Given the description of an element on the screen output the (x, y) to click on. 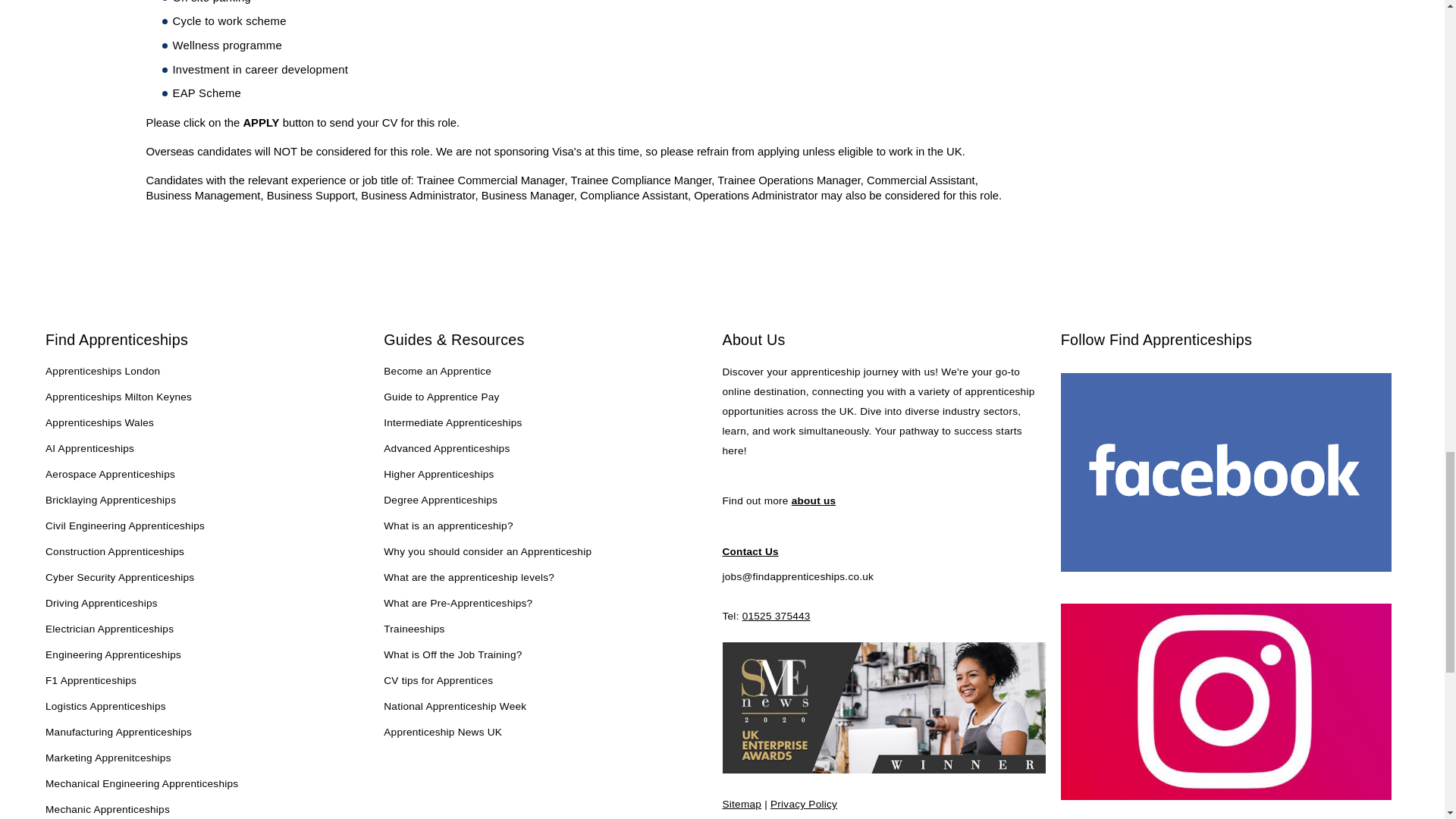
Driving Apprenticeships (101, 604)
Manufacturing Apprenticeships (118, 732)
Electrician Apprenticeships (109, 629)
Cyber Security Apprenticeships (119, 578)
Bricklaying Apprenticeships (110, 501)
Engineering Apprenticeships (112, 655)
AI Apprenticeships (89, 449)
Apprenticeships Milton Keynes (118, 397)
Apprenticeships Wales (99, 424)
Civil Engineering Apprenticeships (125, 526)
Apprenticeships London (102, 372)
F1 Apprenticeships (90, 681)
Logistics Apprenticeships (105, 707)
Aerospace Apprenticeships (109, 475)
Construction Apprenticeships (114, 552)
